Given the description of an element on the screen output the (x, y) to click on. 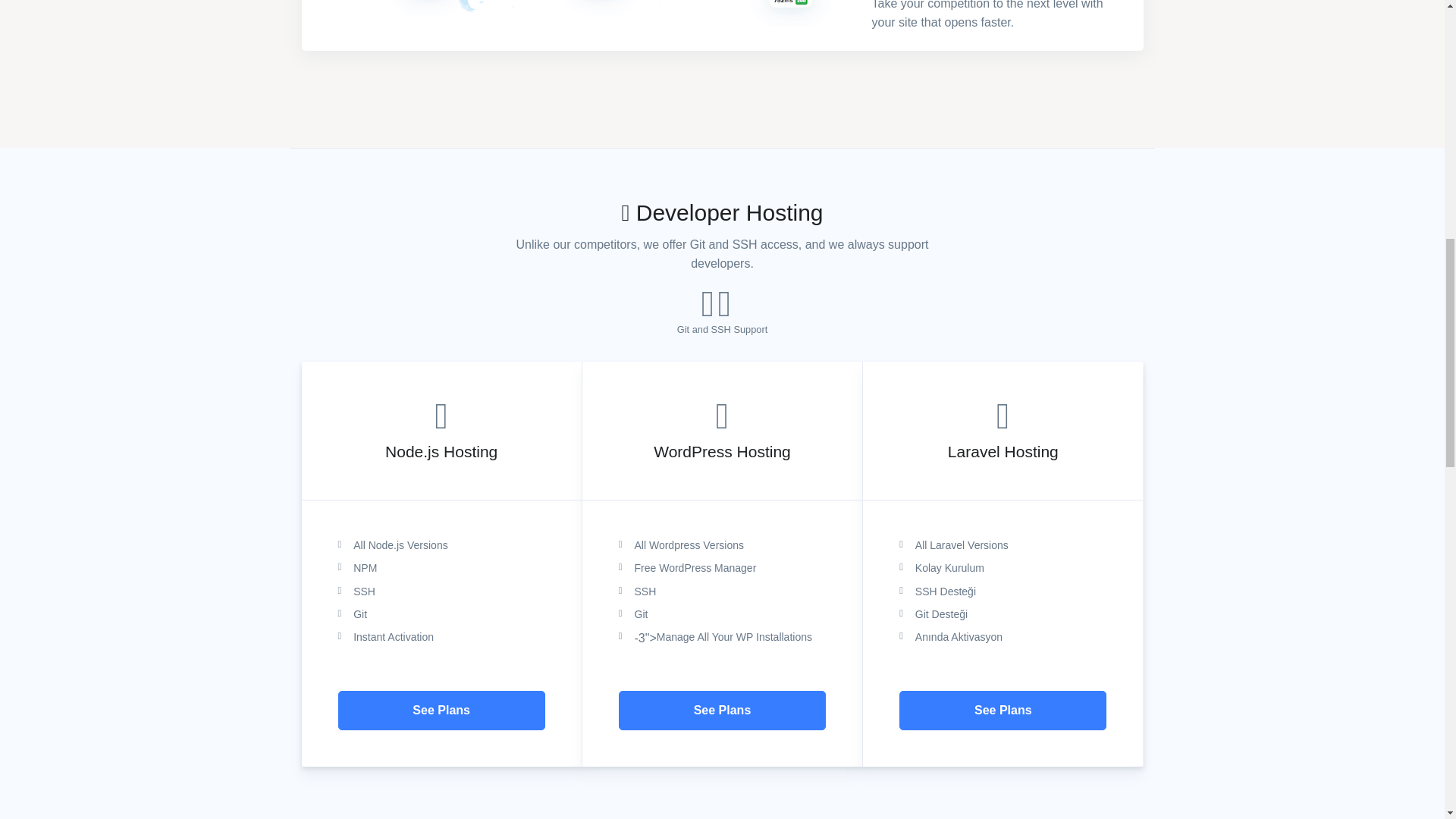
See Plans (440, 710)
See Plans (721, 710)
See Plans (1002, 710)
